Given the description of an element on the screen output the (x, y) to click on. 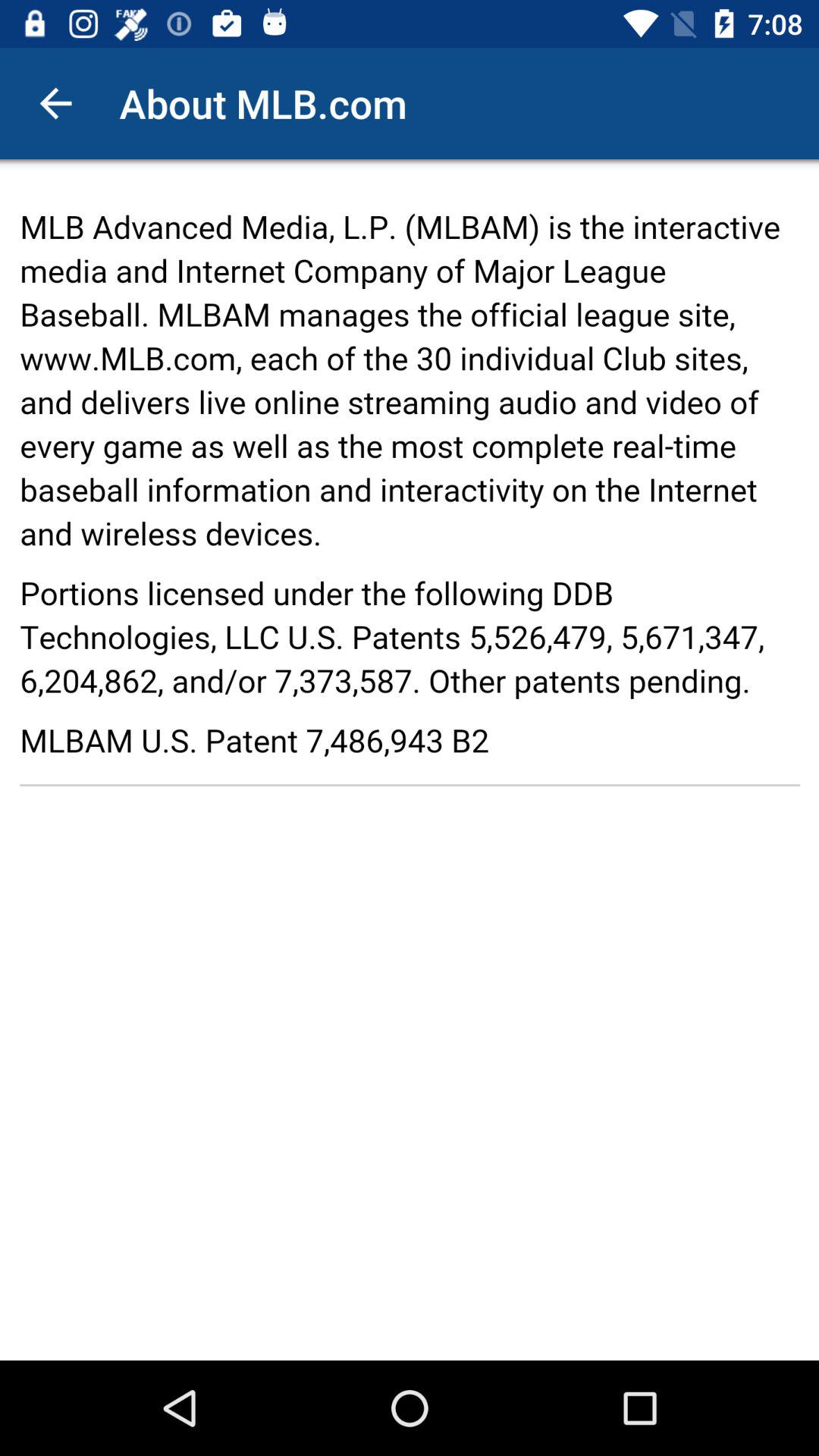
seeing in the paragraph (409, 759)
